Given the description of an element on the screen output the (x, y) to click on. 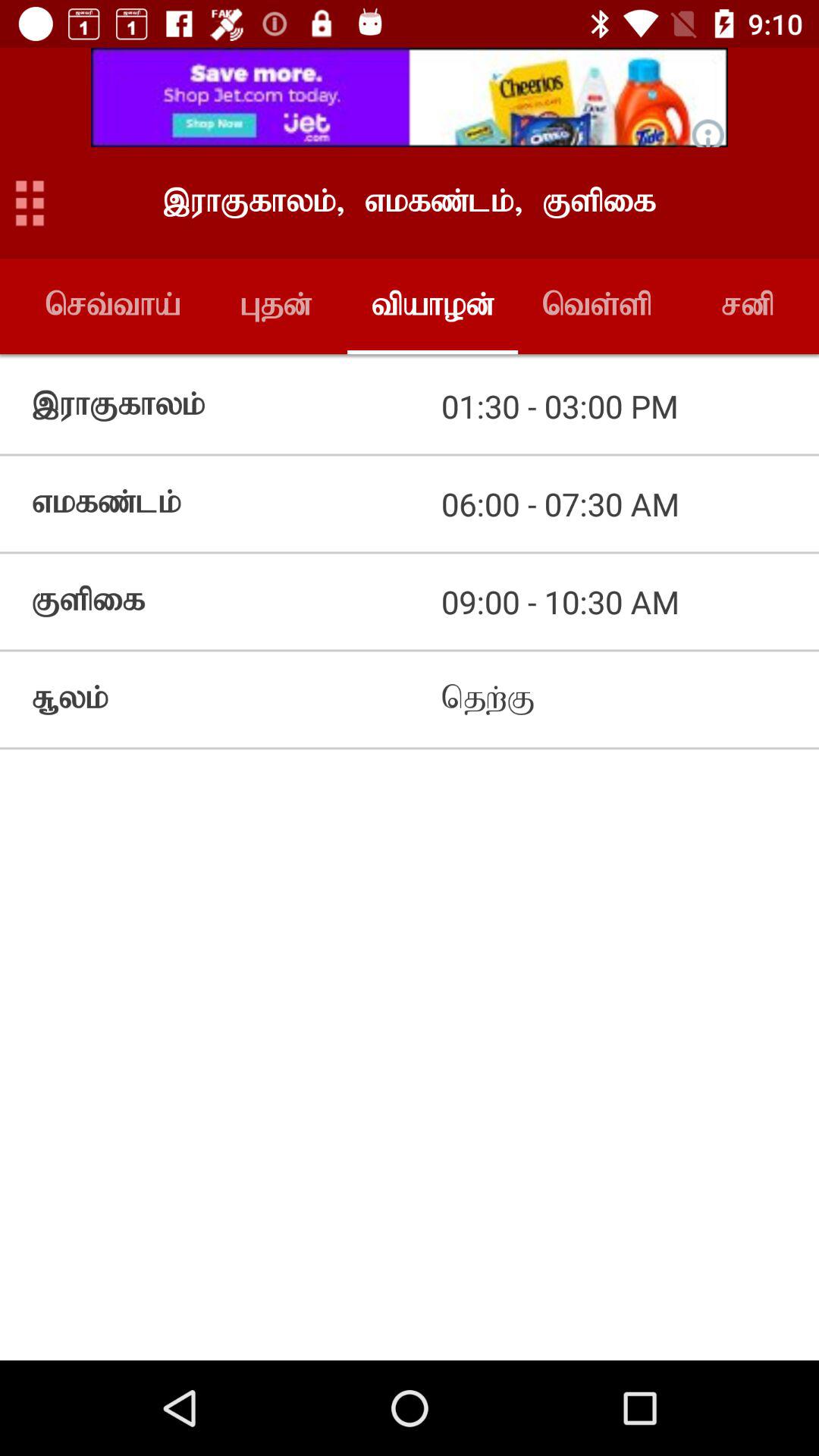
pop up advertisement (409, 97)
